Given the description of an element on the screen output the (x, y) to click on. 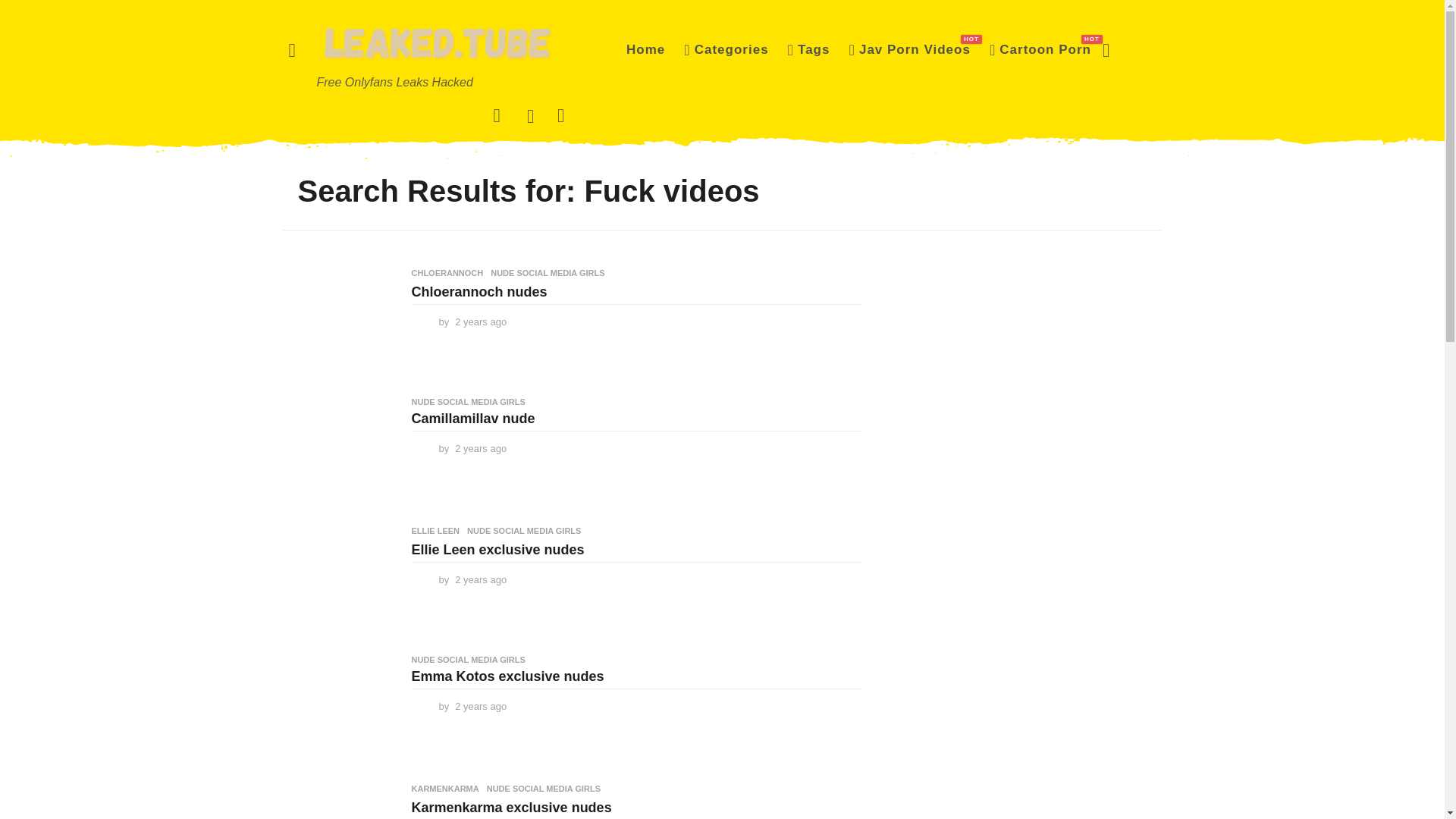
Categories (726, 50)
Camillamillav nude (339, 454)
Ellie Leen exclusive nudes (496, 549)
ELLIE LEEN (435, 530)
Chloerannoch nudes (908, 50)
Home (478, 291)
Chloerannoch nudes (645, 50)
CHLOERANNOCH (339, 325)
